Given the description of an element on the screen output the (x, y) to click on. 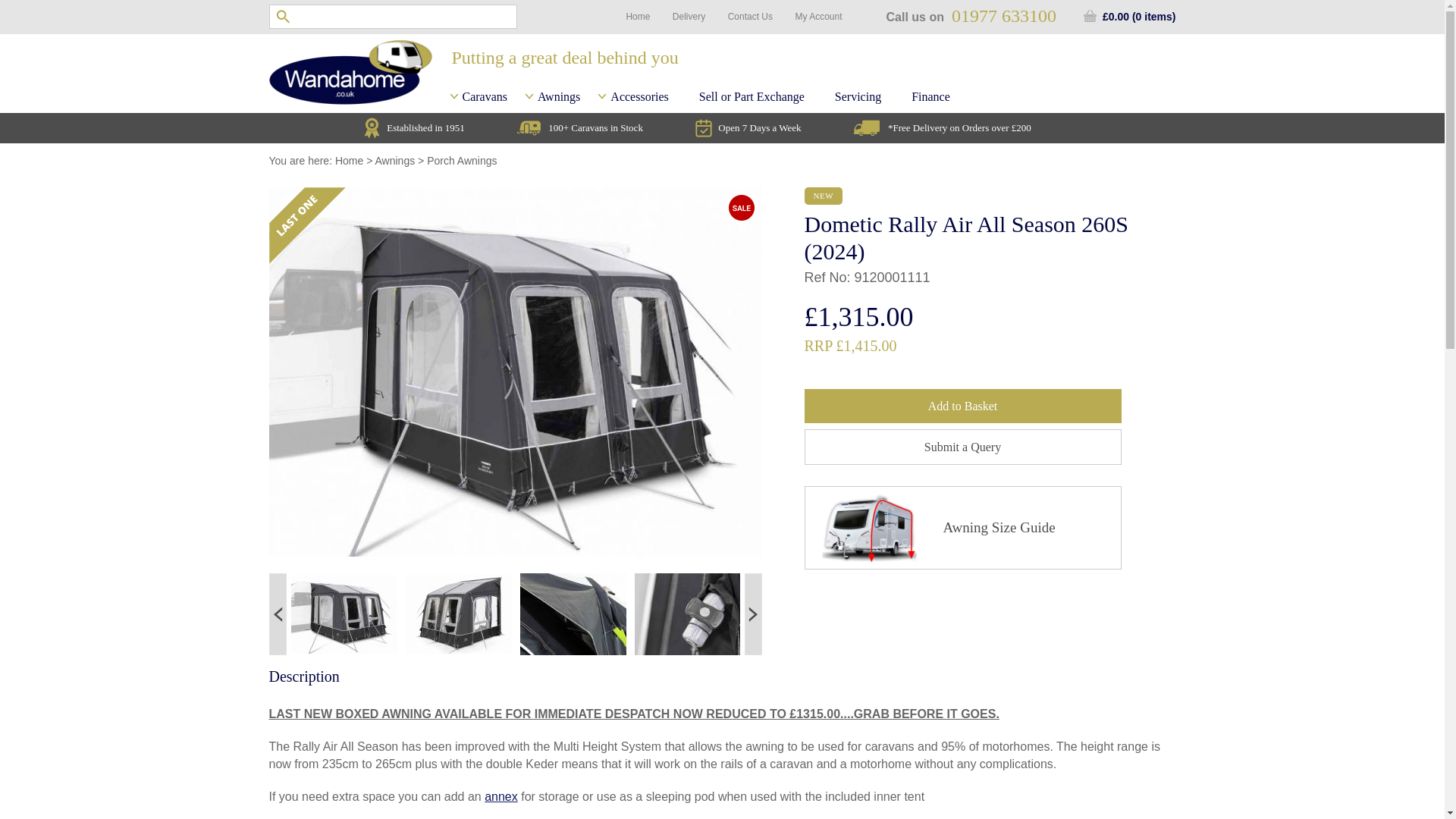
All Season Annex (501, 796)
Delivery (688, 16)
Contact Us (750, 16)
Caravans (485, 96)
My Account (817, 16)
Add to Basket (962, 406)
Awnings (558, 96)
Home (637, 16)
Accessories (639, 96)
